Given the description of an element on the screen output the (x, y) to click on. 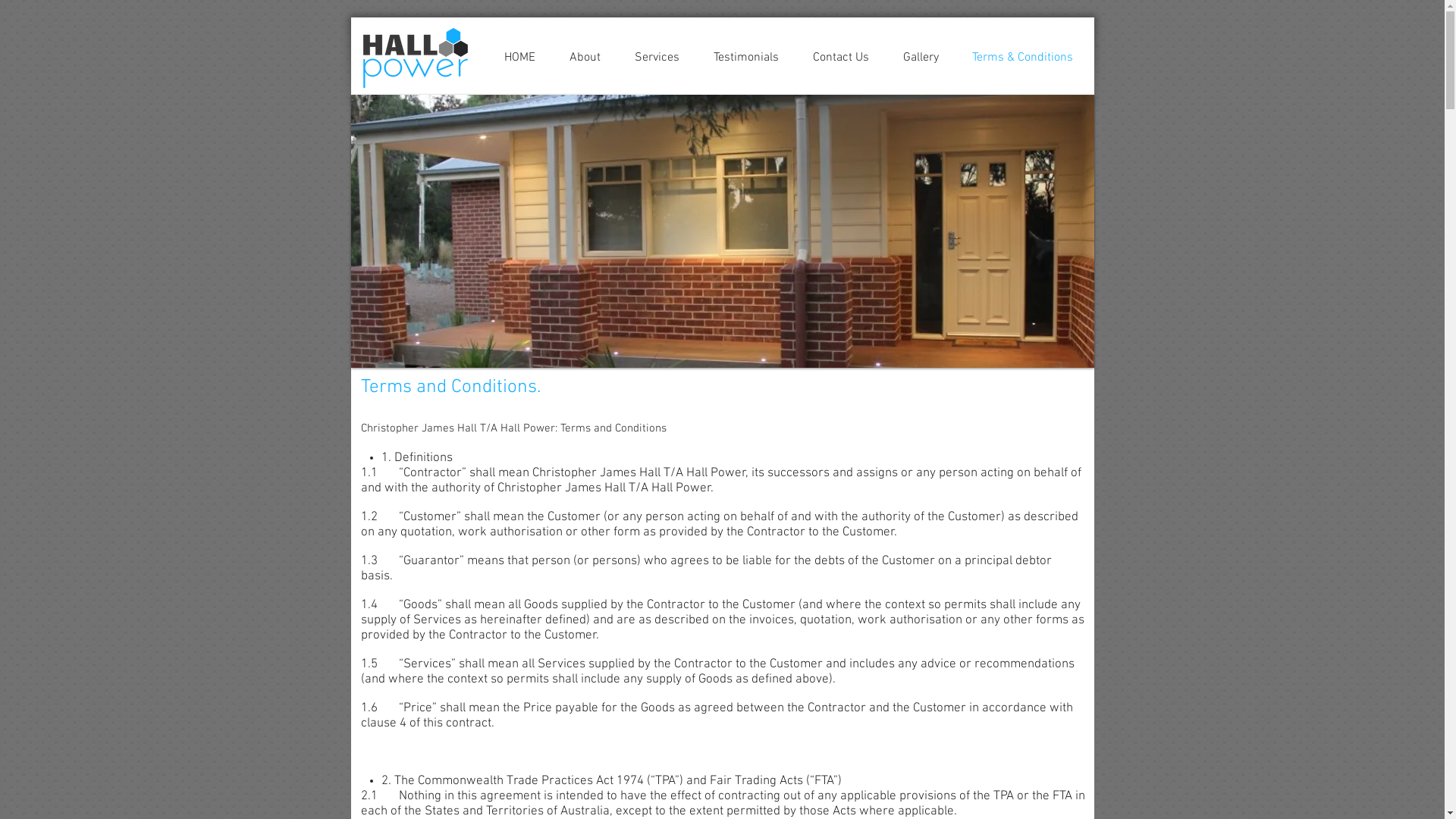
About Element type: text (584, 57)
Gallery Element type: text (919, 57)
Contact Us Element type: text (841, 57)
Terms & Conditions Element type: text (1022, 57)
Testimonials Element type: text (745, 57)
Services Element type: text (656, 57)
HOME Element type: text (519, 57)
